Given the description of an element on the screen output the (x, y) to click on. 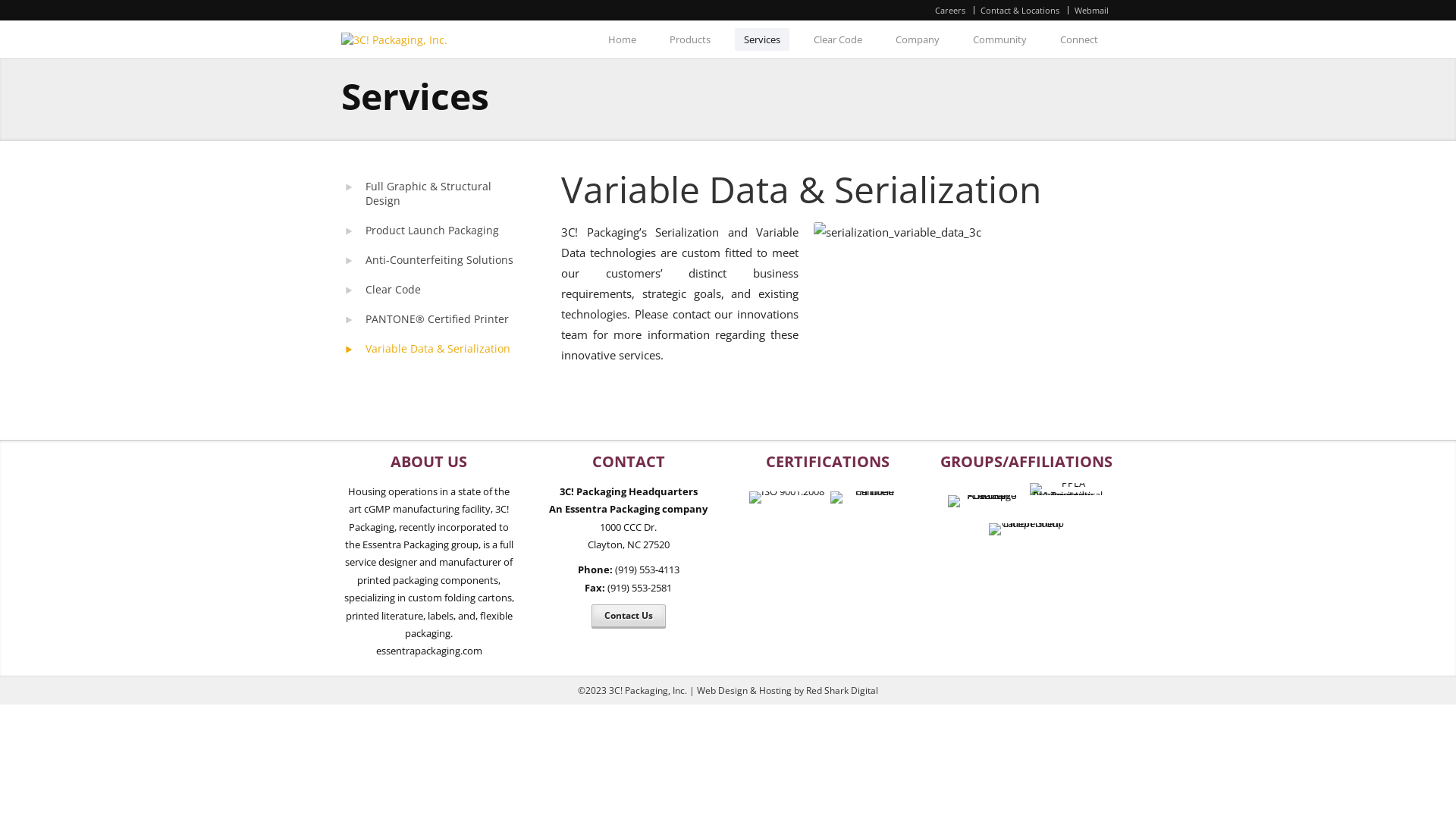
Red Shark Digital Element type: text (842, 690)
Independent Carton Group Element type: hover (1026, 523)
Pantone Certified Printer Element type: hover (868, 491)
Services Element type: text (415, 95)
Clear Code Element type: text (837, 39)
Webmail Element type: text (1091, 10)
ISO 9001:2008 Element type: hover (786, 497)
PPLA Pharmaceutical Printed Literature Association Element type: hover (1067, 495)
Contact Us Element type: text (628, 615)
Company Element type: text (917, 39)
Community Element type: text (999, 39)
Variable Data & Serialization Element type: text (432, 348)
Connect Element type: text (1079, 39)
essentrapackaging.com Element type: text (429, 650)
Home Element type: text (622, 39)
Independent Carton Group Element type: hover (1026, 529)
FLAG Flexo Label Advantage Group Element type: hover (985, 501)
Full Graphic & Structural Design Element type: text (432, 193)
Services Element type: text (761, 39)
Pantone Certified Printer Element type: hover (868, 497)
Product Launch Packaging Element type: text (432, 229)
Products Element type: text (689, 39)
Contact & Locations Element type: text (1019, 10)
PPLA Pharmaceutical Printed Literature Association Element type: hover (1067, 489)
3C! Packaging, Inc. Element type: hover (449, 38)
Anti-Counterfeiting Solutions Element type: text (432, 259)
Clear Code Element type: text (432, 289)
FLAG Flexo Label Advantage Group Element type: hover (985, 495)
Careers Element type: text (950, 10)
